Given the description of an element on the screen output the (x, y) to click on. 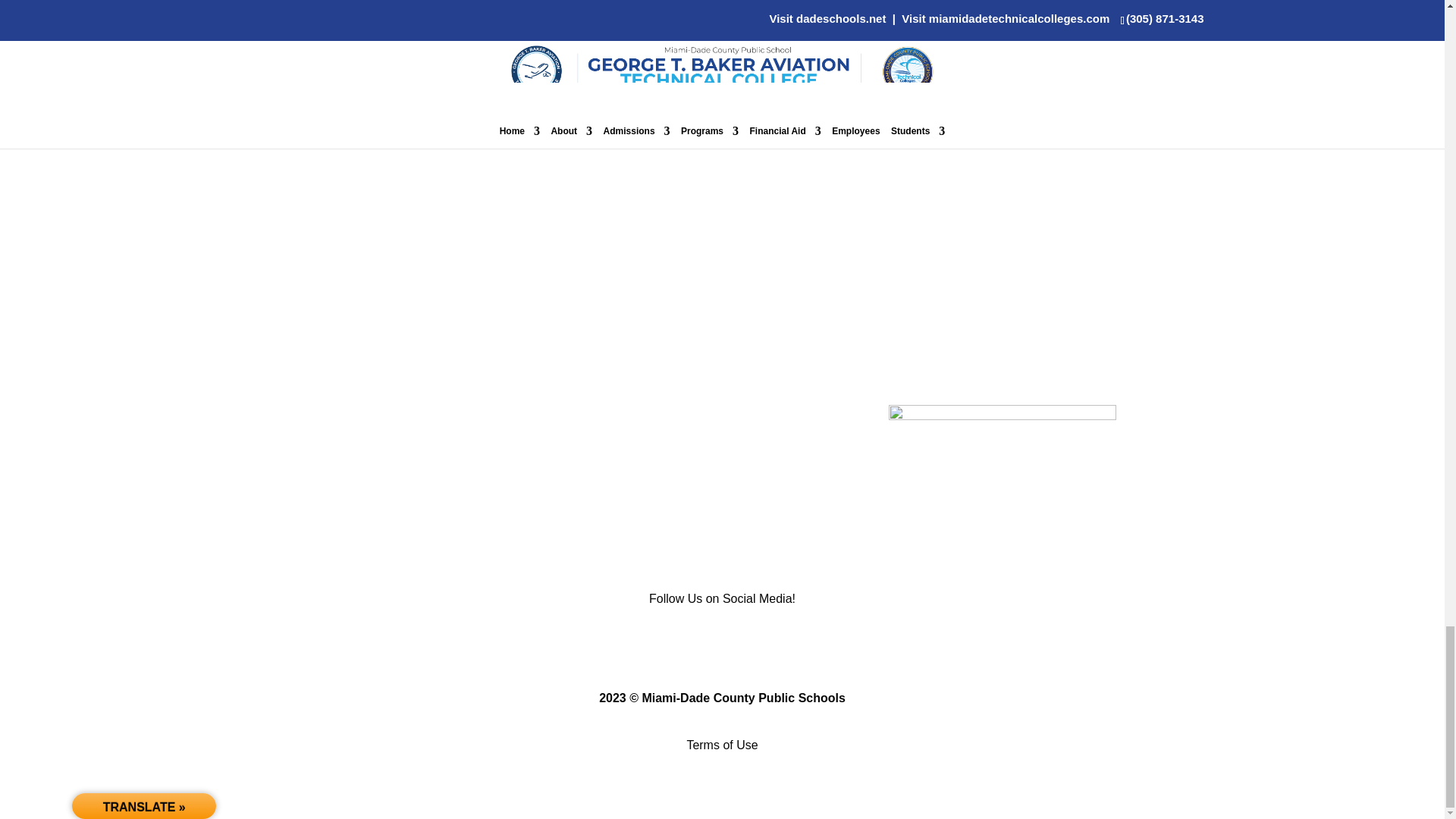
Follow on Facebook (691, 645)
Follow on Instagram (751, 645)
Follow on X (721, 645)
